Given the description of an element on the screen output the (x, y) to click on. 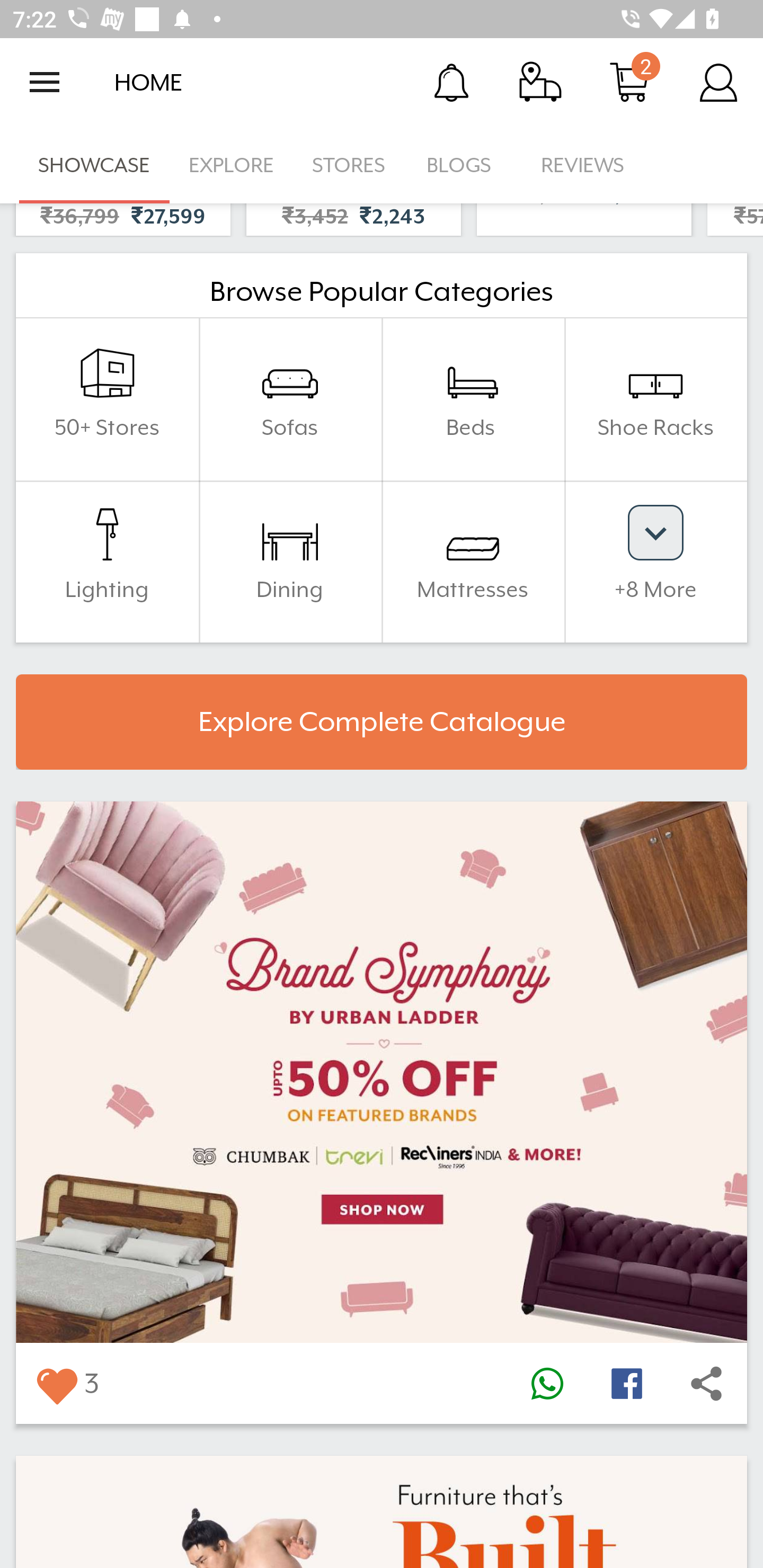
Open navigation drawer (44, 82)
Notification (450, 81)
Track Order (540, 81)
Cart (629, 81)
Account Details (718, 81)
SHOWCASE (94, 165)
EXPLORE (230, 165)
STORES (349, 165)
BLOGS (464, 165)
REVIEWS (582, 165)
50+ Stores (106, 398)
Sofas (289, 398)
Beds  (473, 398)
Shoe Racks (655, 398)
Lighting (106, 561)
Dining (289, 561)
Mattresses (473, 561)
 +8 More (655, 561)
Explore Complete Catalogue (381, 721)
 (55, 1383)
 (547, 1383)
 (626, 1383)
 (706, 1383)
